Given the description of an element on the screen output the (x, y) to click on. 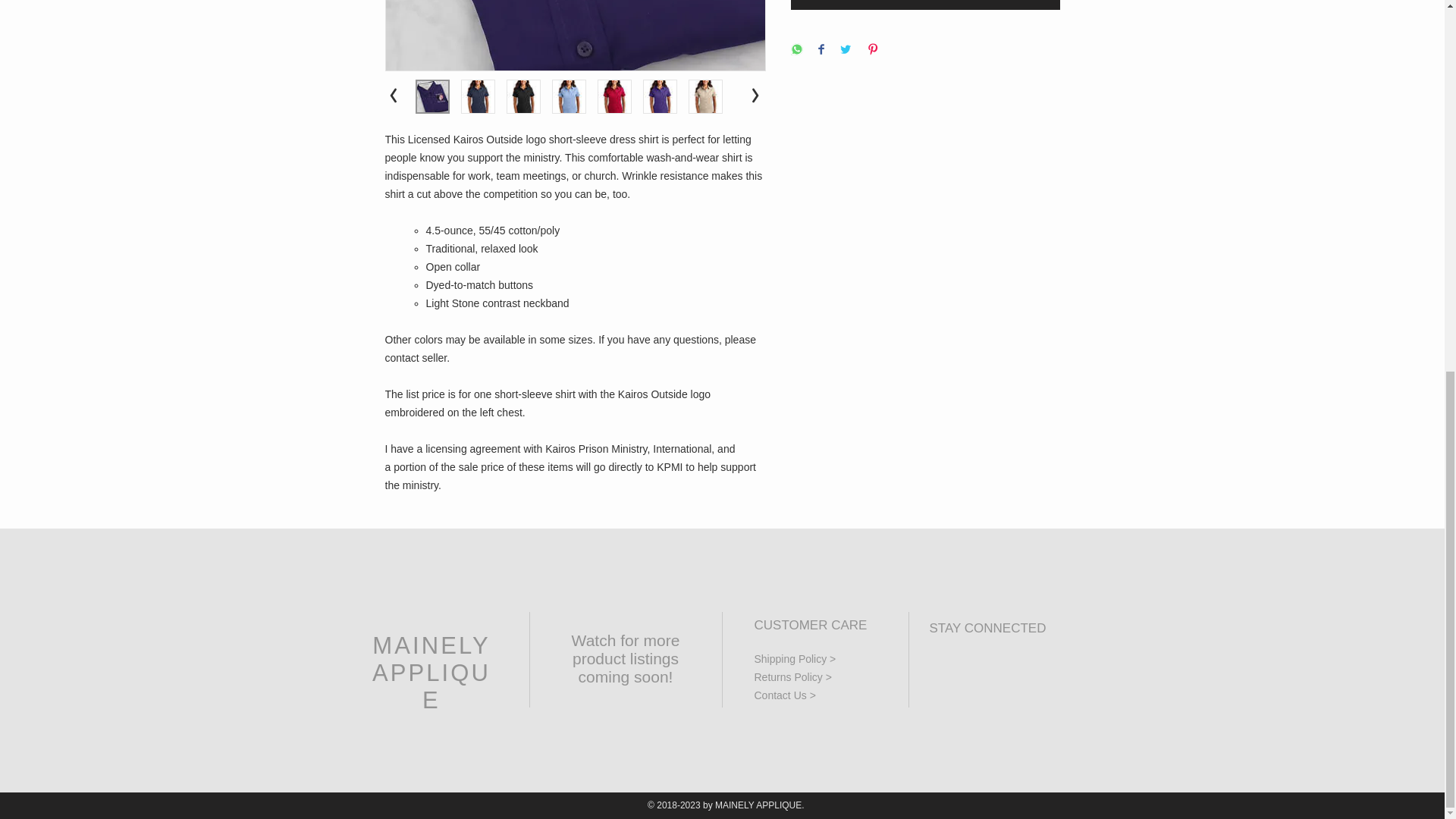
Add to Cart (924, 4)
MAINELY APPLIQUE (431, 672)
